Given the description of an element on the screen output the (x, y) to click on. 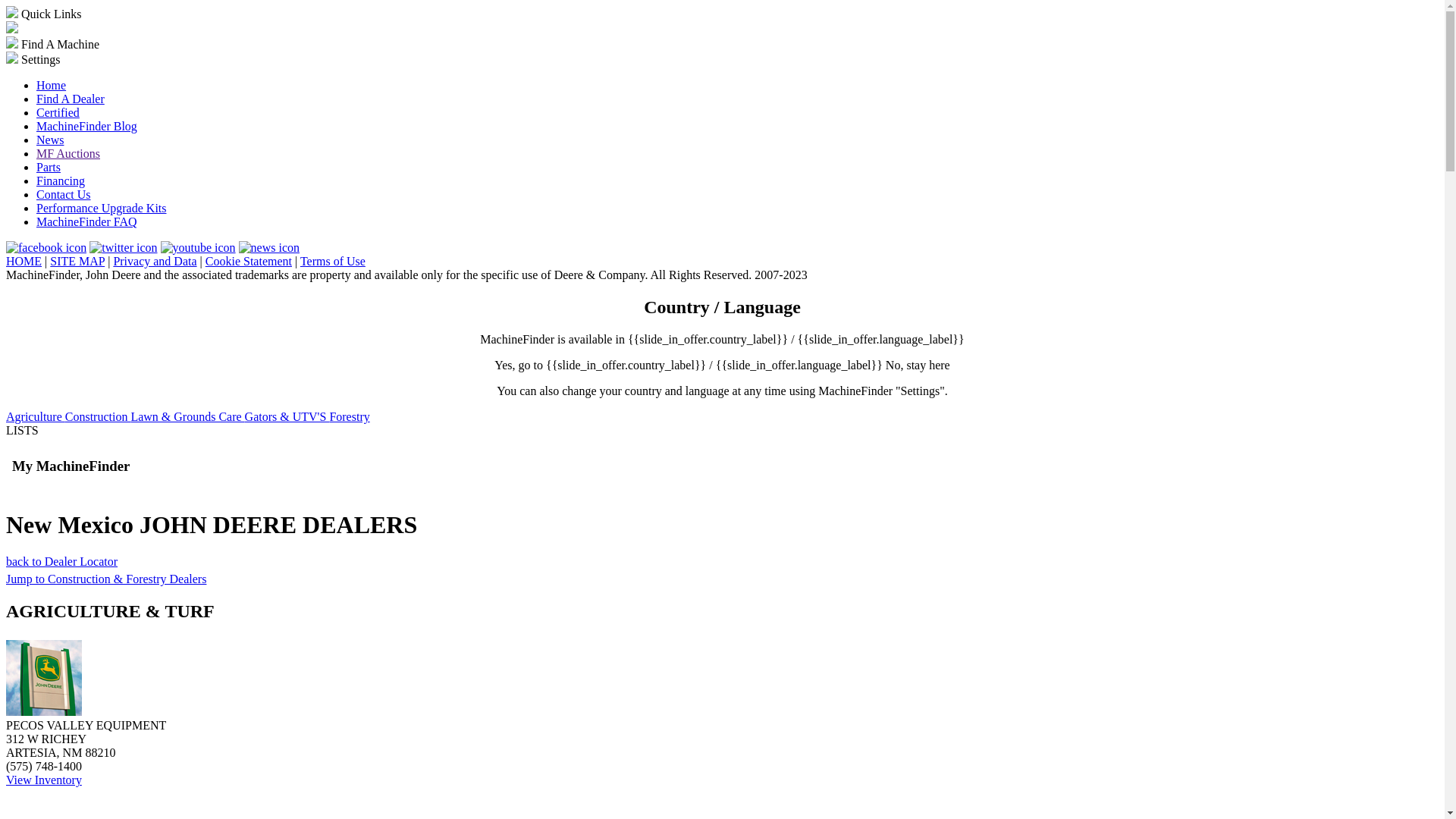
Terms of Use Element type: text (332, 260)
Financing Element type: text (60, 180)
Gators & UTV'S Element type: text (286, 416)
Contact Us Element type: text (63, 194)
Agriculture Element type: text (35, 416)
Home Element type: text (50, 84)
News Element type: text (49, 139)
back to Dealer Locator Element type: text (61, 561)
Parts Element type: text (48, 166)
HOME Element type: text (23, 260)
MachineFinder FAQ Element type: text (86, 221)
Jump to Construction & Forestry Dealers Element type: text (106, 578)
Lawn & Grounds Care Element type: text (187, 416)
Performance Upgrade Kits Element type: text (101, 207)
MachineFinder Blog Element type: text (86, 125)
Find A Dealer Element type: text (70, 98)
MF Auctions Element type: text (68, 153)
Cookie Statement Element type: text (248, 260)
SITE MAP Element type: text (77, 260)
View Inventory Element type: text (43, 779)
Privacy and Data Element type: text (154, 260)
Certified Element type: text (57, 112)
Construction Element type: text (98, 416)
Forestry Element type: text (349, 416)
